Given the description of an element on the screen output the (x, y) to click on. 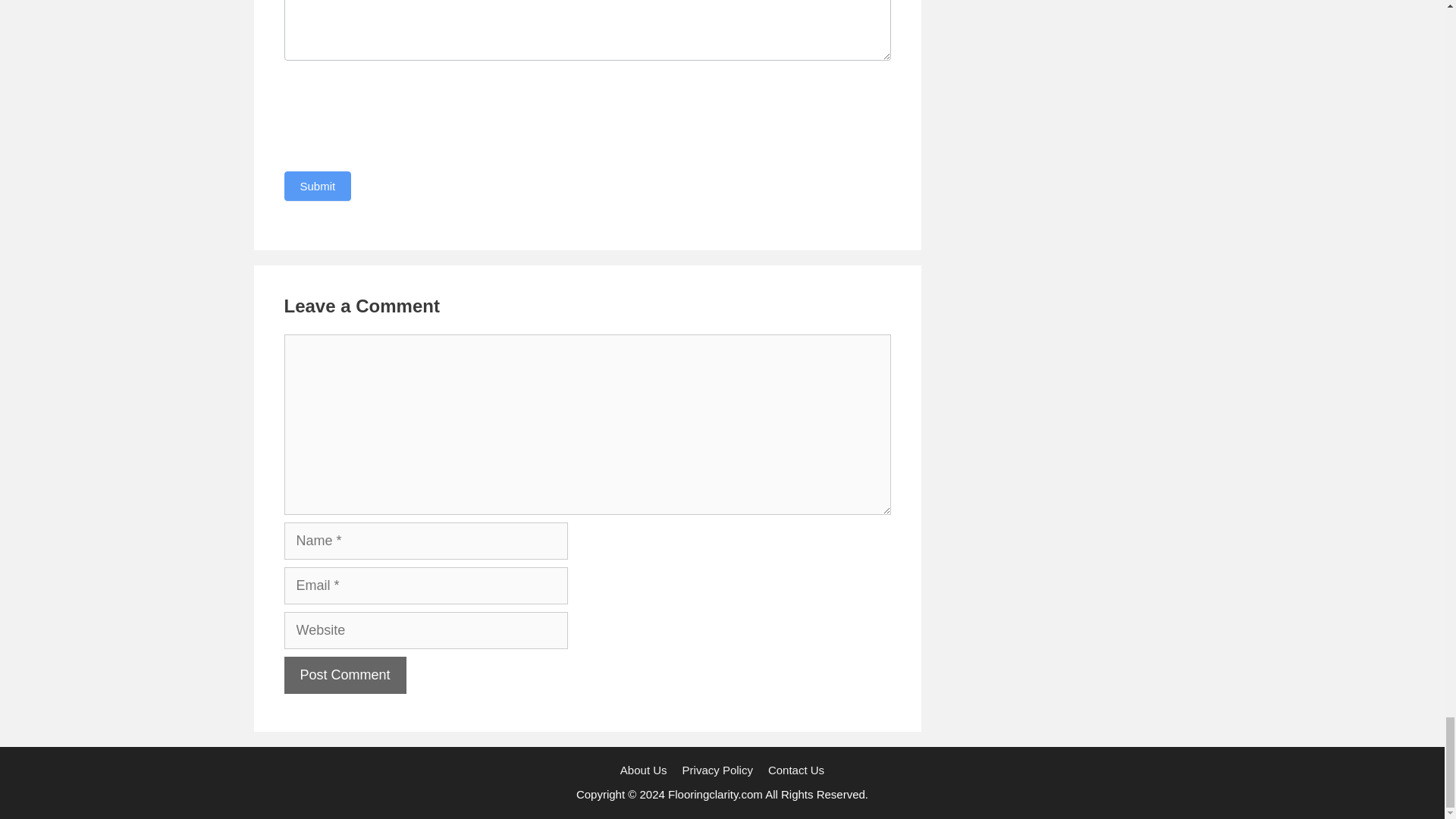
Submit (316, 185)
Post Comment (344, 674)
